Given the description of an element on the screen output the (x, y) to click on. 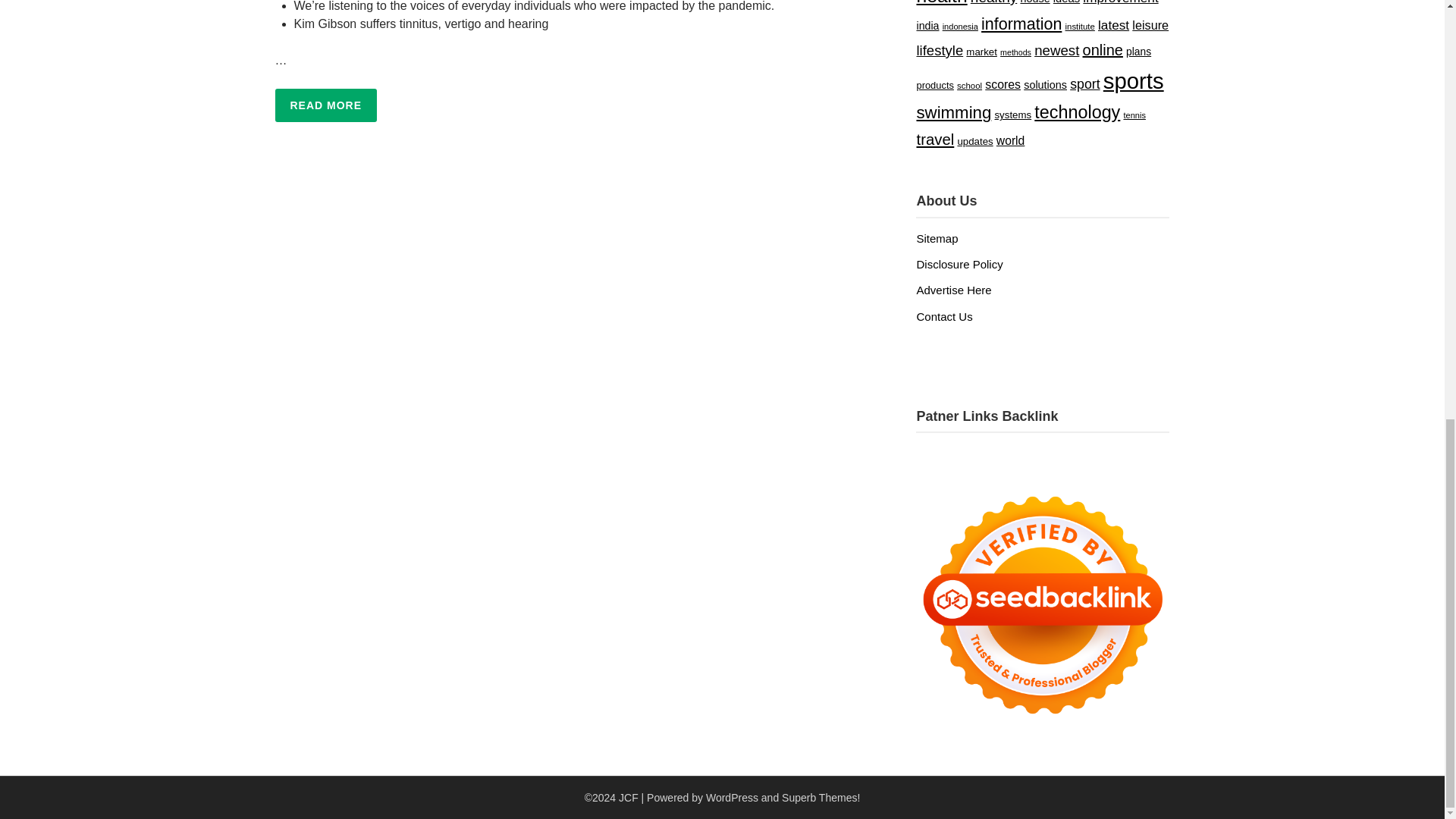
improvement (1120, 2)
ideas (1066, 2)
indonesia (960, 26)
health (940, 2)
READ MORE (326, 105)
information (1021, 24)
house (1034, 2)
Seedbacklink (1042, 605)
healthy (993, 2)
india (927, 25)
